Given the description of an element on the screen output the (x, y) to click on. 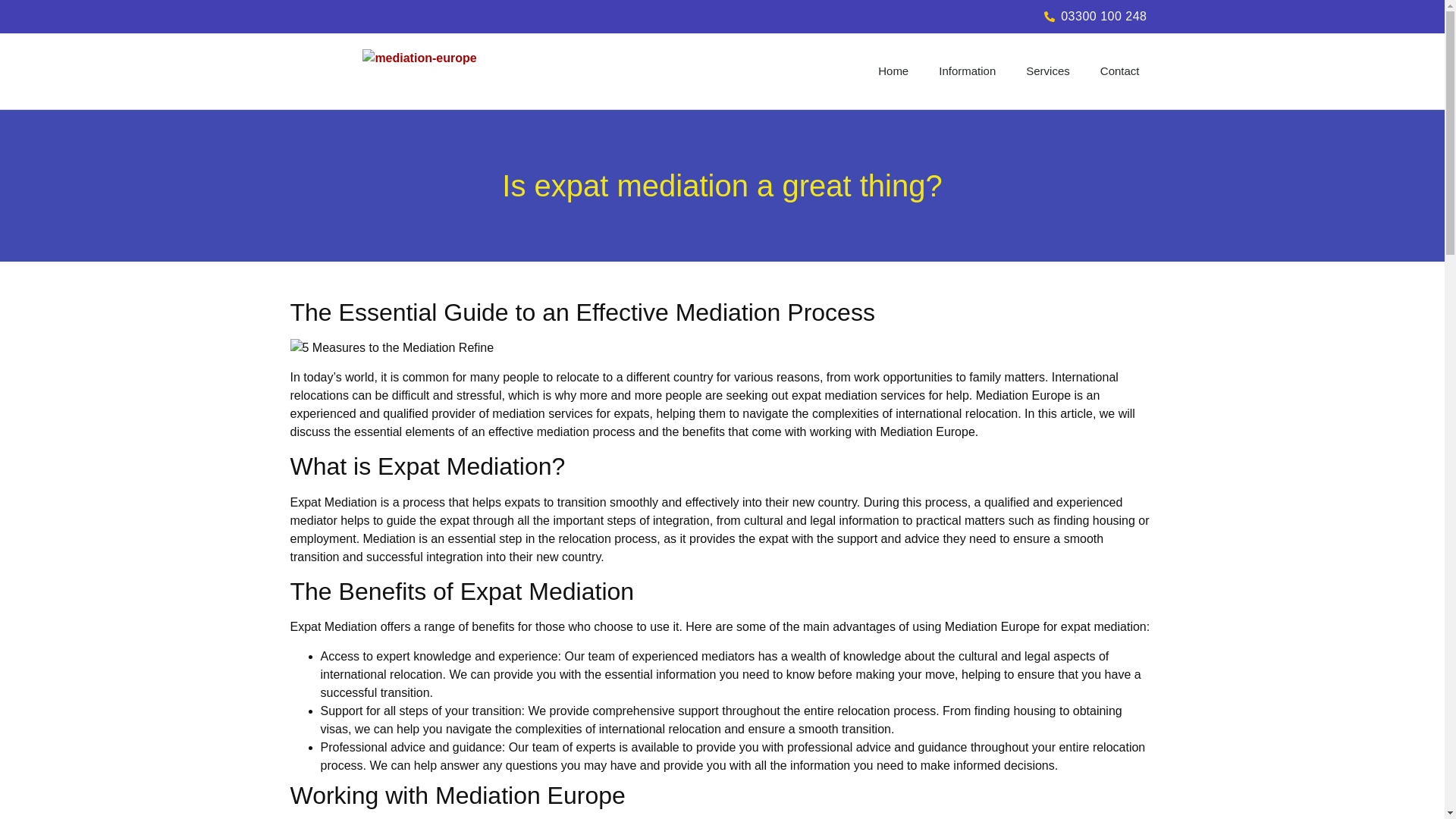
Services (1047, 70)
Is expat mediation a great thing? 1 (391, 348)
03300 100 248 (938, 16)
Information (966, 70)
Contact (1119, 70)
